Given the description of an element on the screen output the (x, y) to click on. 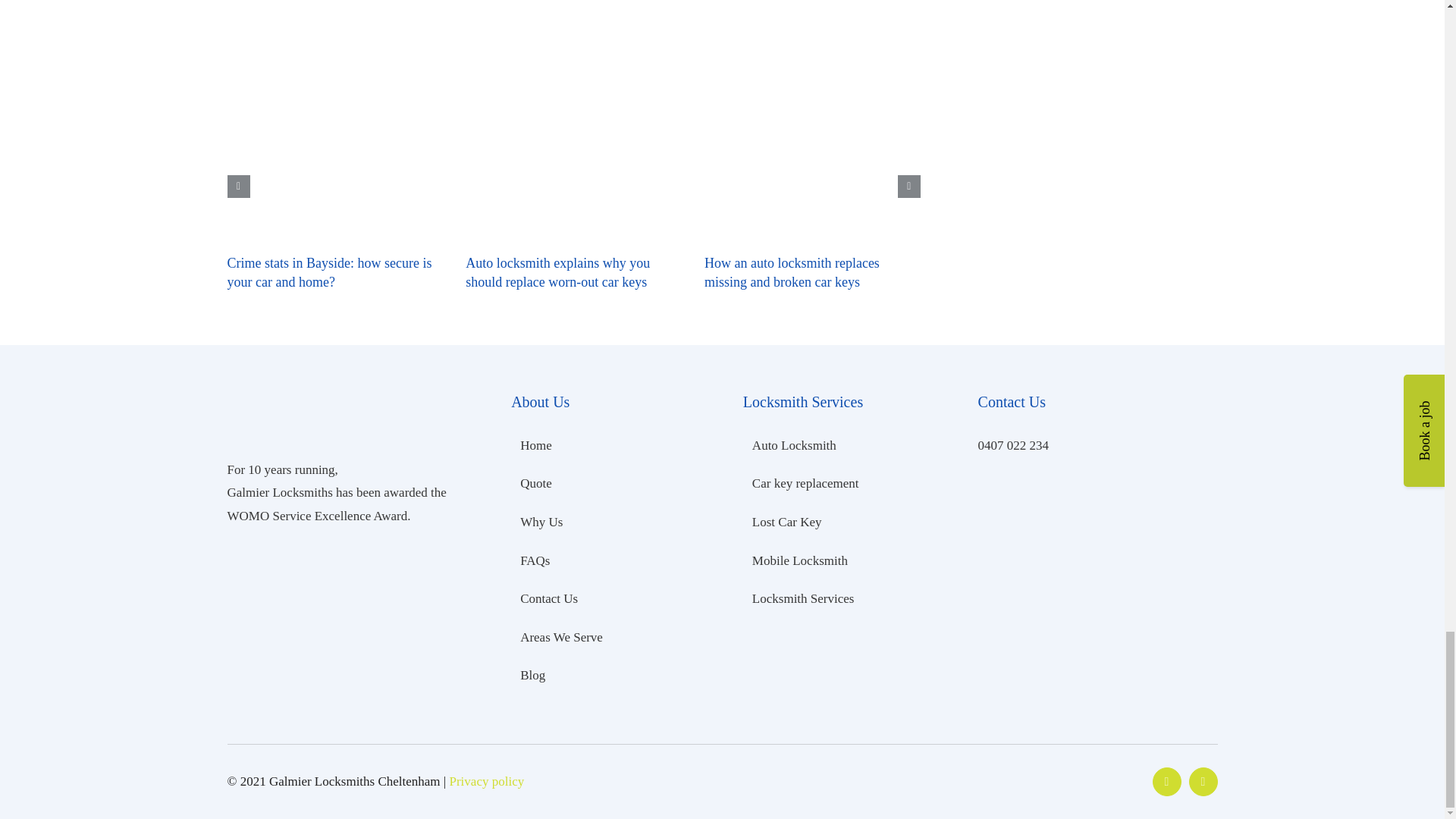
How an auto locksmith replaces missing and broken car keys (791, 272)
Crime stats in Bayside: how secure is your car and home? (329, 272)
Facebook (1166, 781)
LinkedIn (1203, 781)
